Given the description of an element on the screen output the (x, y) to click on. 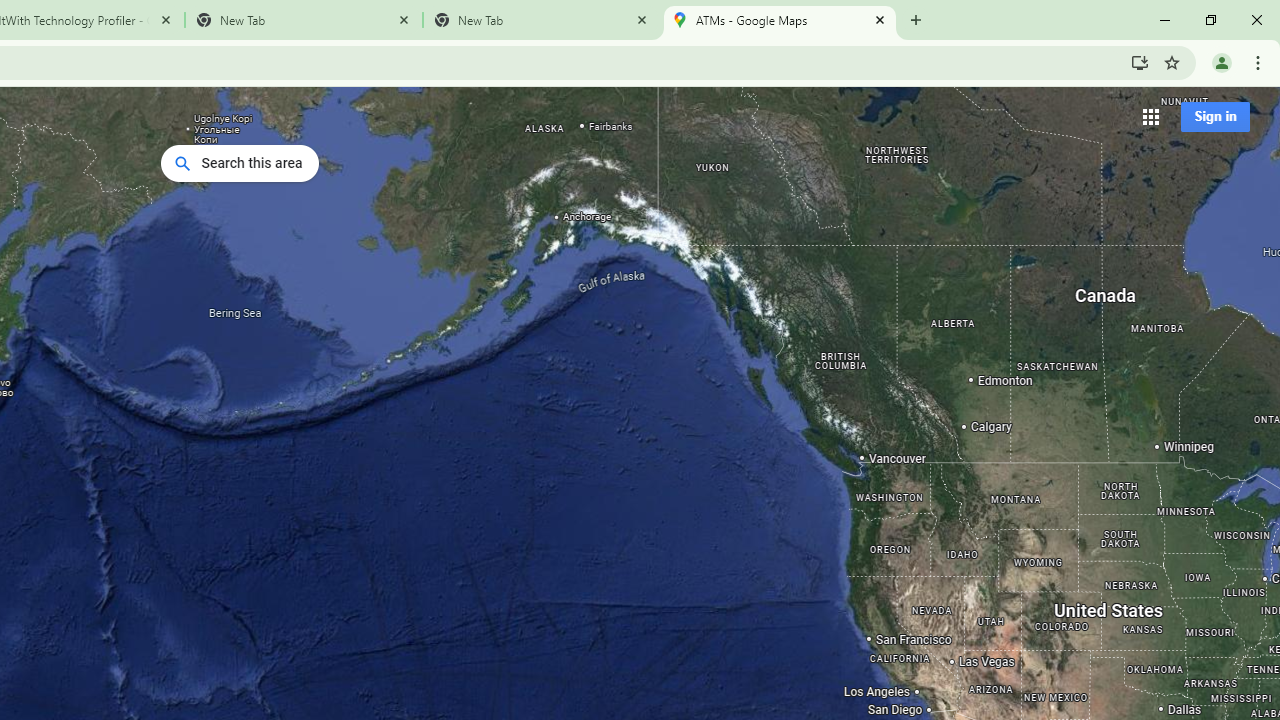
Search this area (239, 163)
Install Google Maps (1139, 62)
New Tab (541, 20)
ATMs - Google Maps (779, 20)
